Given the description of an element on the screen output the (x, y) to click on. 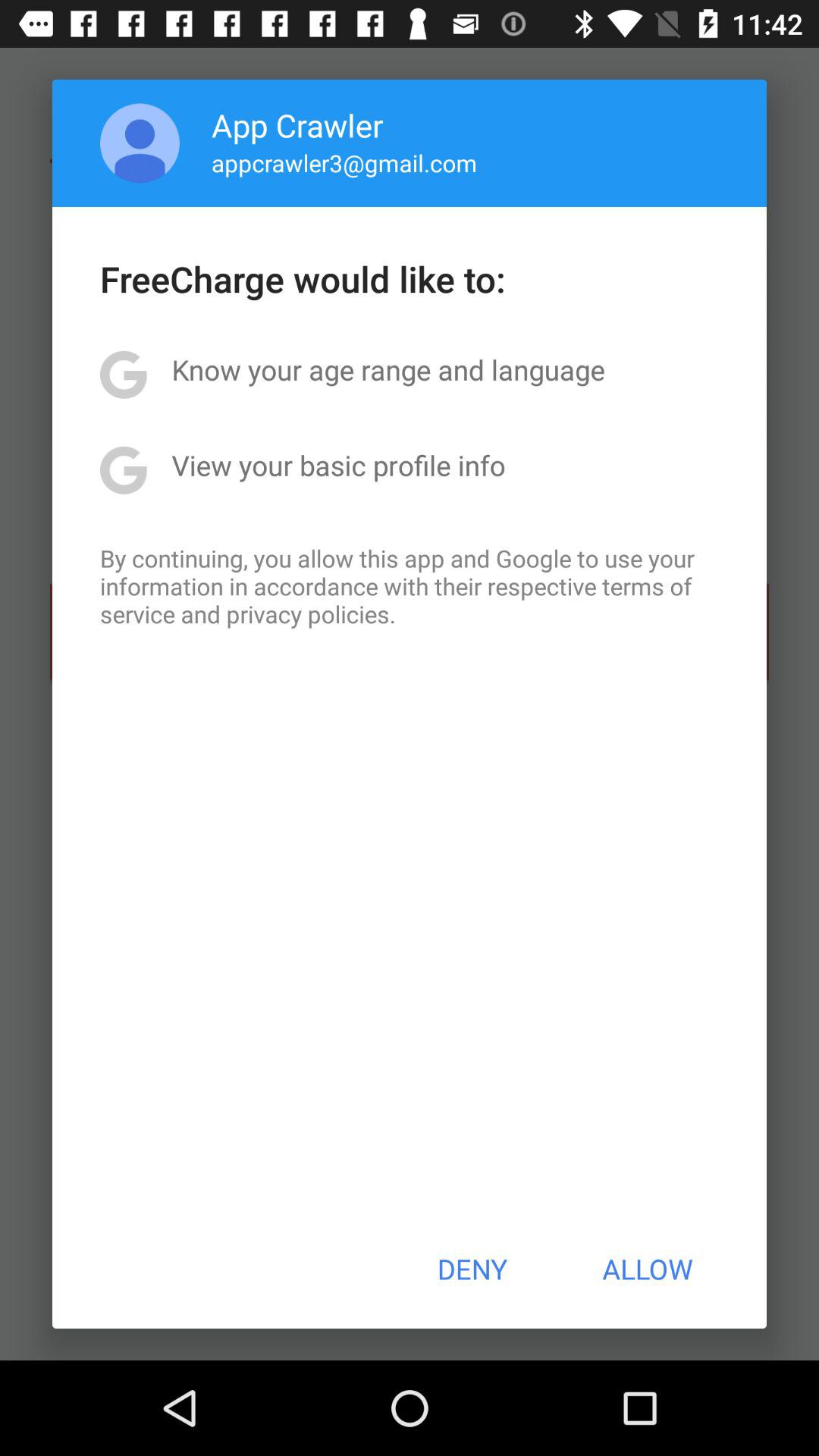
open app below the freecharge would like (388, 369)
